Given the description of an element on the screen output the (x, y) to click on. 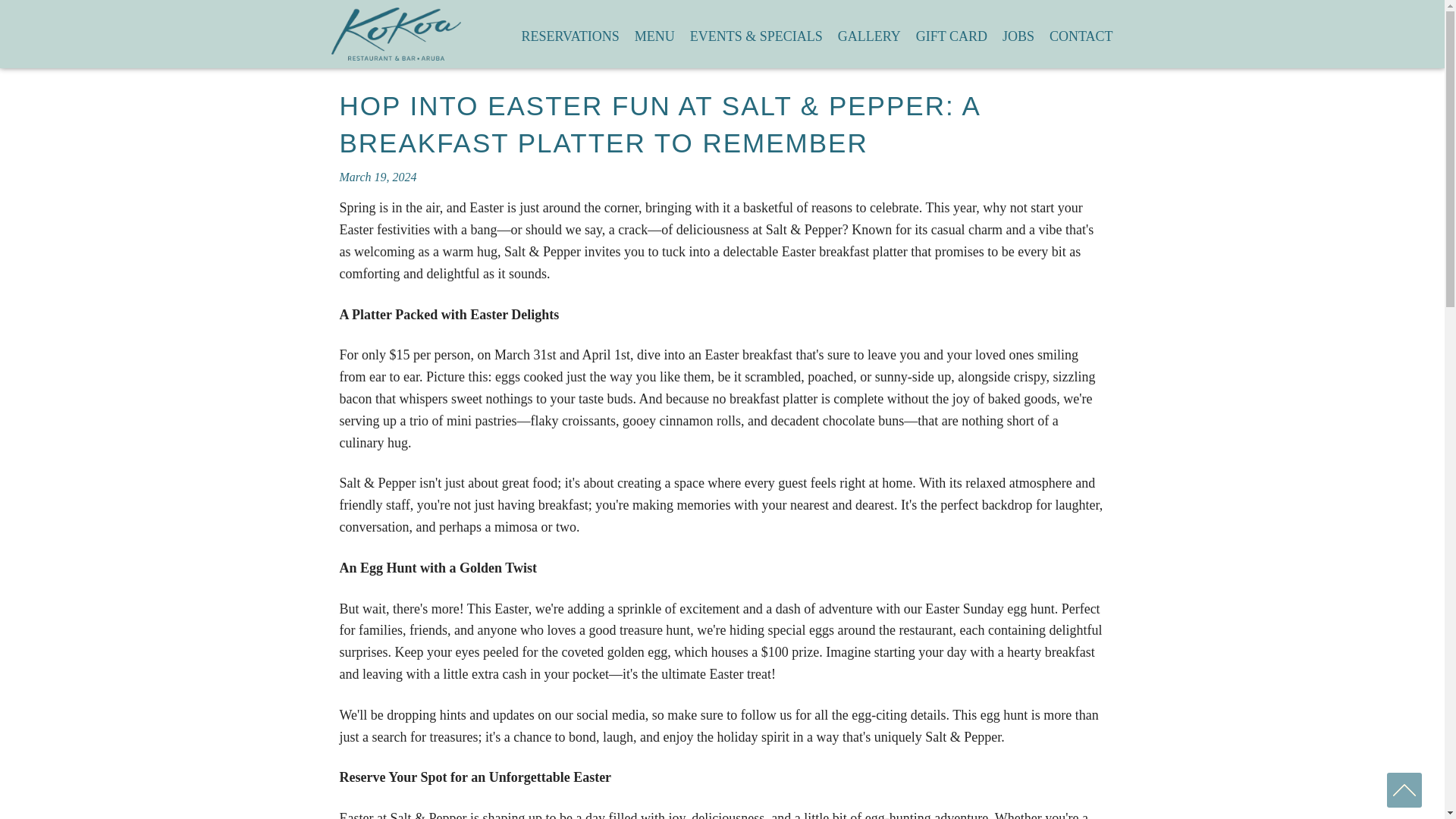
MENU (654, 33)
RESERVATIONS (570, 33)
GALLERY (869, 33)
CONTACT (1081, 33)
GIFT CARD (951, 33)
JOBS (1018, 33)
